Given the description of an element on the screen output the (x, y) to click on. 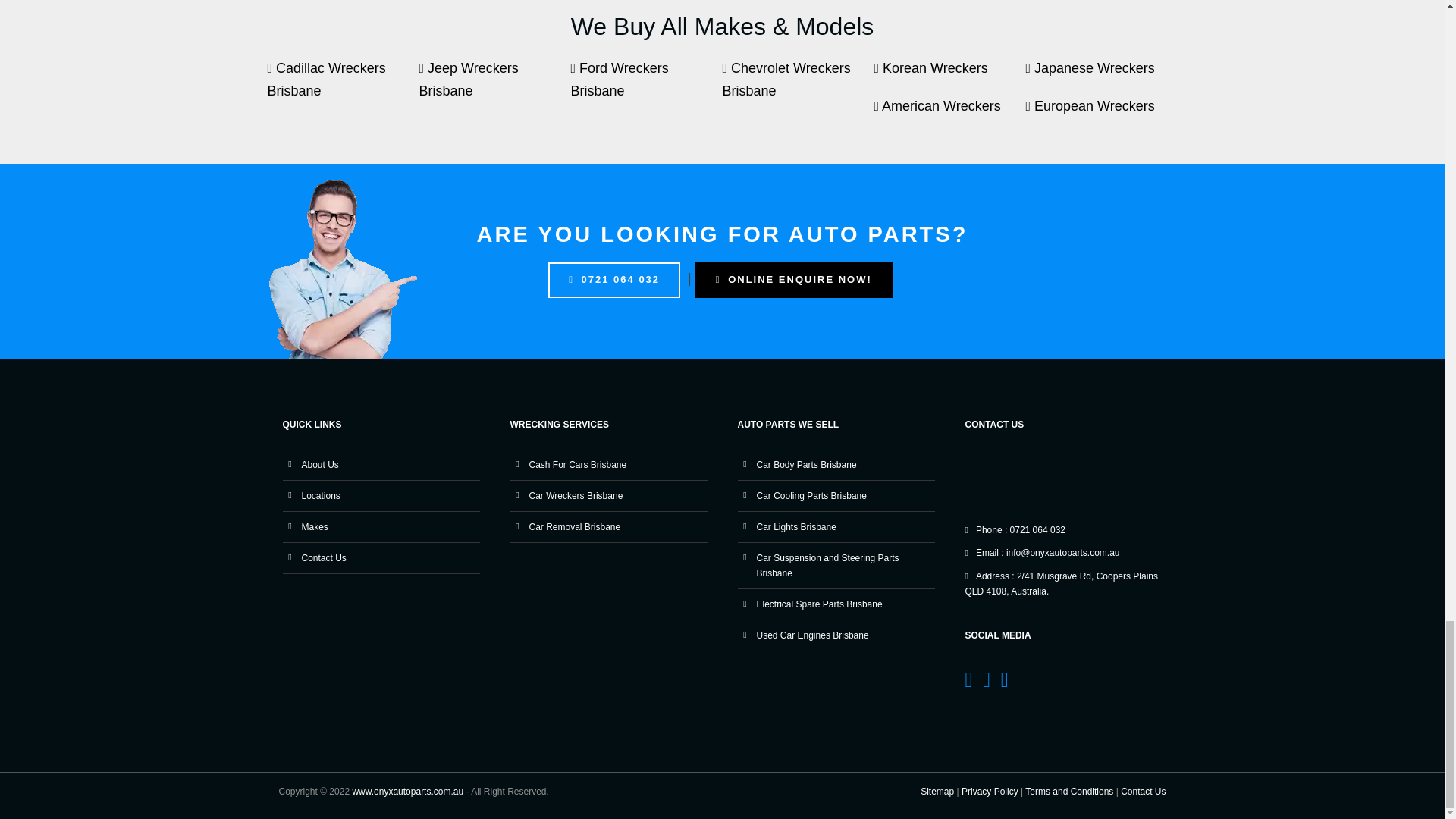
Ford Wreckers Brisbane (646, 86)
Chevrolet Wreckers Brisbane (797, 86)
Japanese Wreckers (1100, 75)
Korean Wreckers (949, 75)
Jeep Wreckers Brisbane (494, 86)
American Wreckers (949, 114)
European Wreckers (1100, 114)
Cadillac Wreckers Brisbane (342, 86)
